Given the description of an element on the screen output the (x, y) to click on. 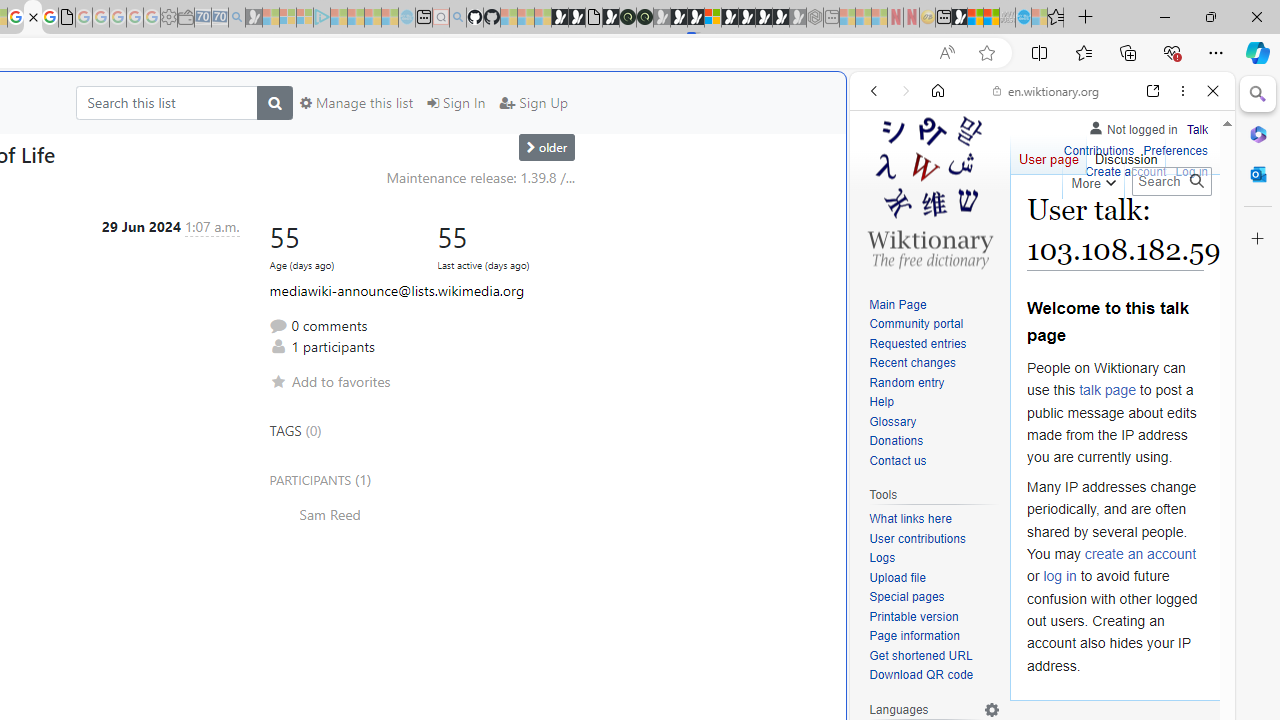
Discussion (1125, 154)
SEARCH TOOLS (1093, 228)
Requested entries (917, 343)
Close Customize pane (1258, 239)
Forward (906, 91)
Upload file (934, 578)
Visit the main page (929, 190)
Contributions (1098, 148)
